Given the description of an element on the screen output the (x, y) to click on. 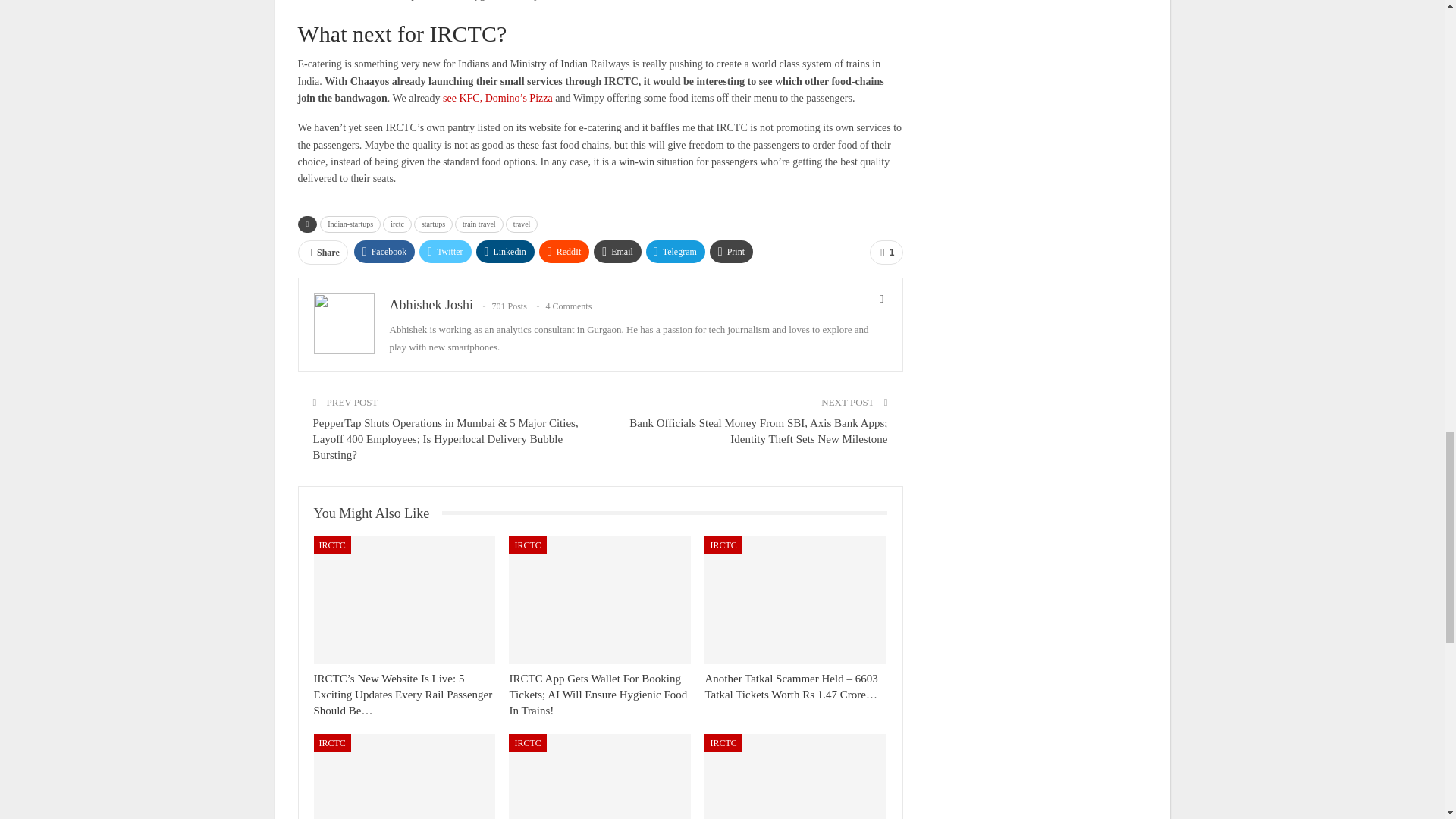
Indian-startups (350, 224)
see KFC, (461, 98)
see KFC, (461, 98)
